Given the description of an element on the screen output the (x, y) to click on. 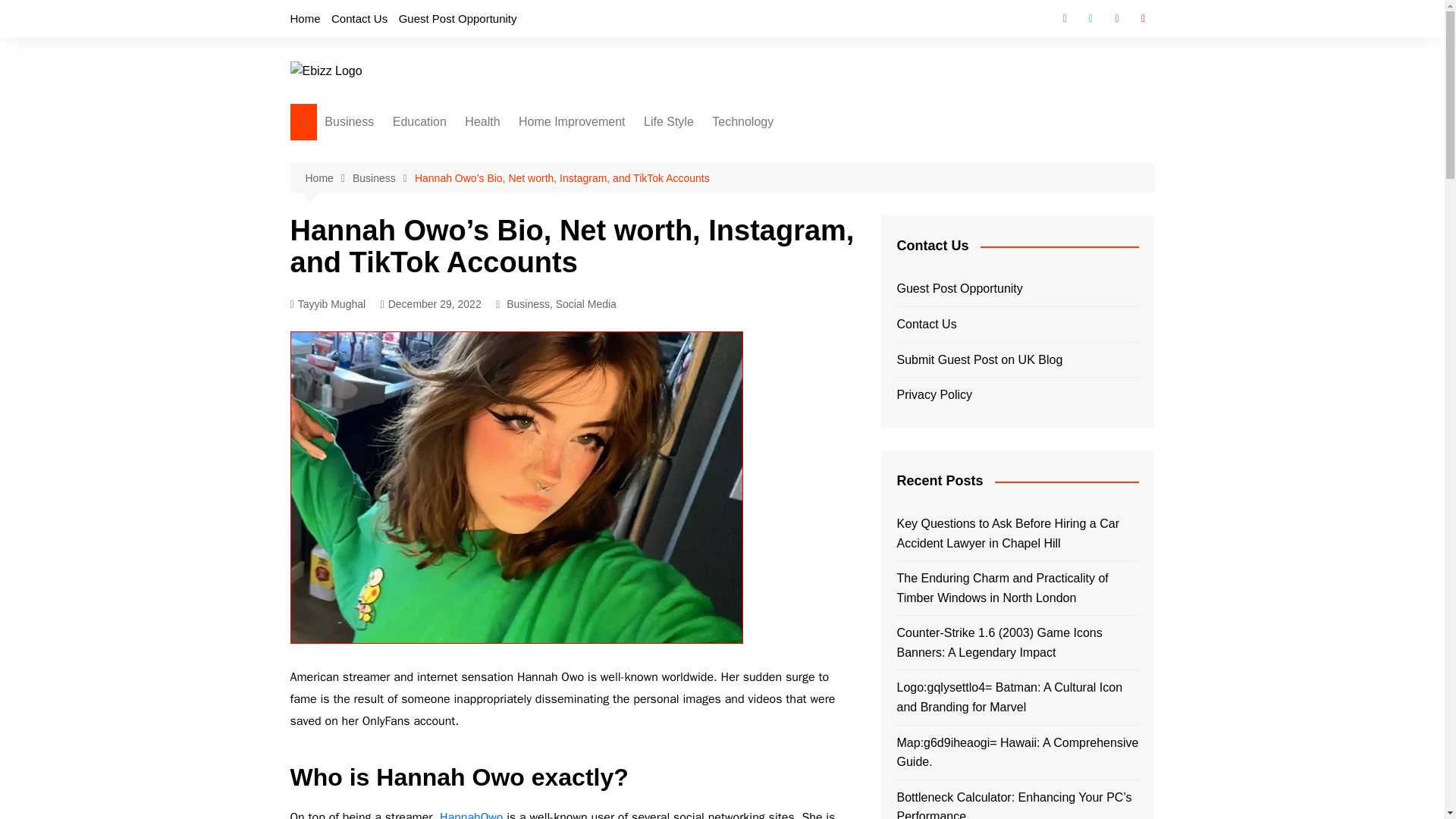
Guest Post Opportunity (457, 18)
Facebook (1063, 18)
Sports (719, 227)
Pest Control (594, 252)
Social Media (400, 327)
Kitchen (594, 227)
Vimeo (1142, 18)
Cryptocurrency (400, 177)
News (400, 277)
Dining (594, 202)
